Given the description of an element on the screen output the (x, y) to click on. 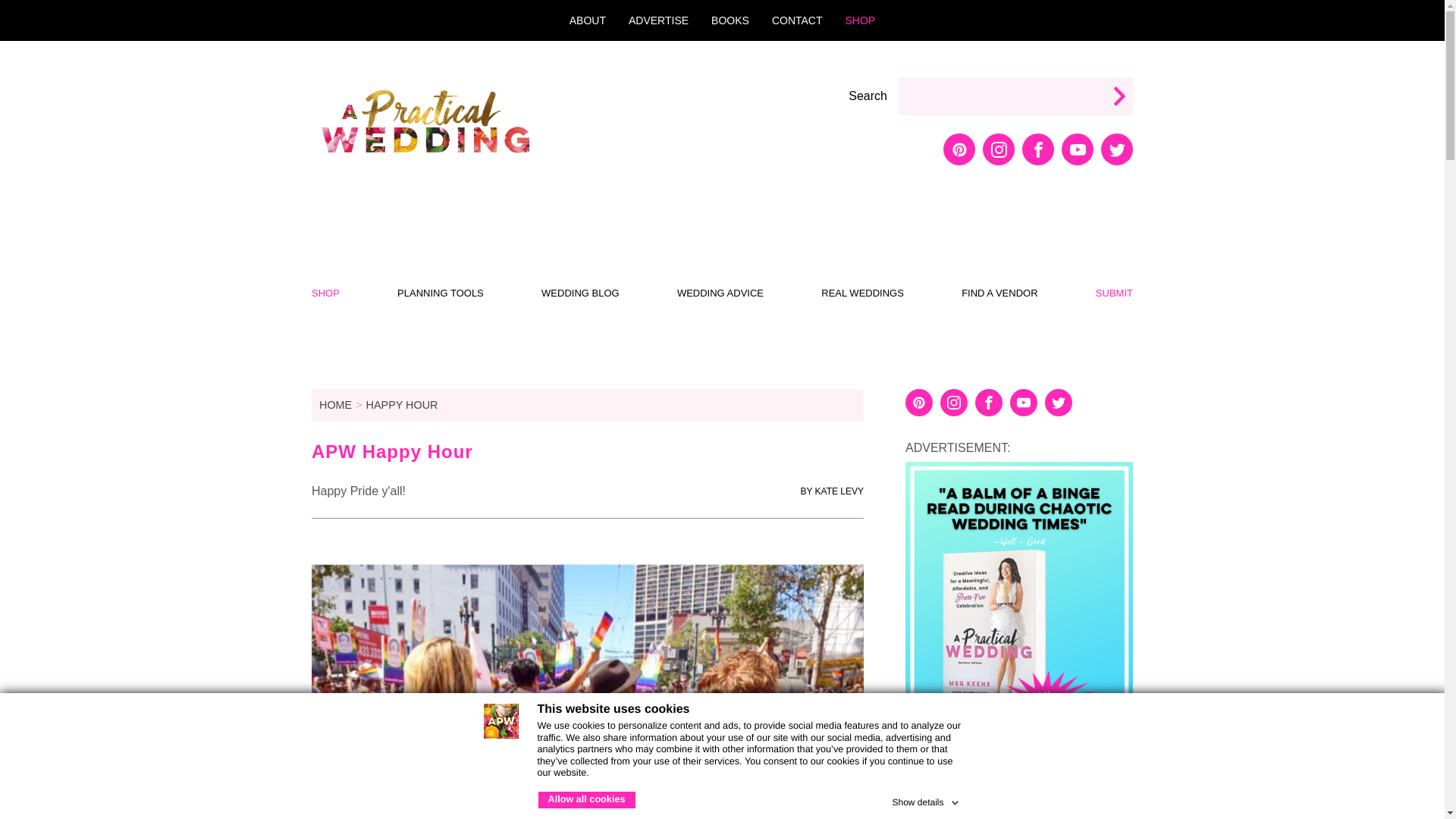
Show details (925, 799)
Allow all cookies (586, 799)
